Given the description of an element on the screen output the (x, y) to click on. 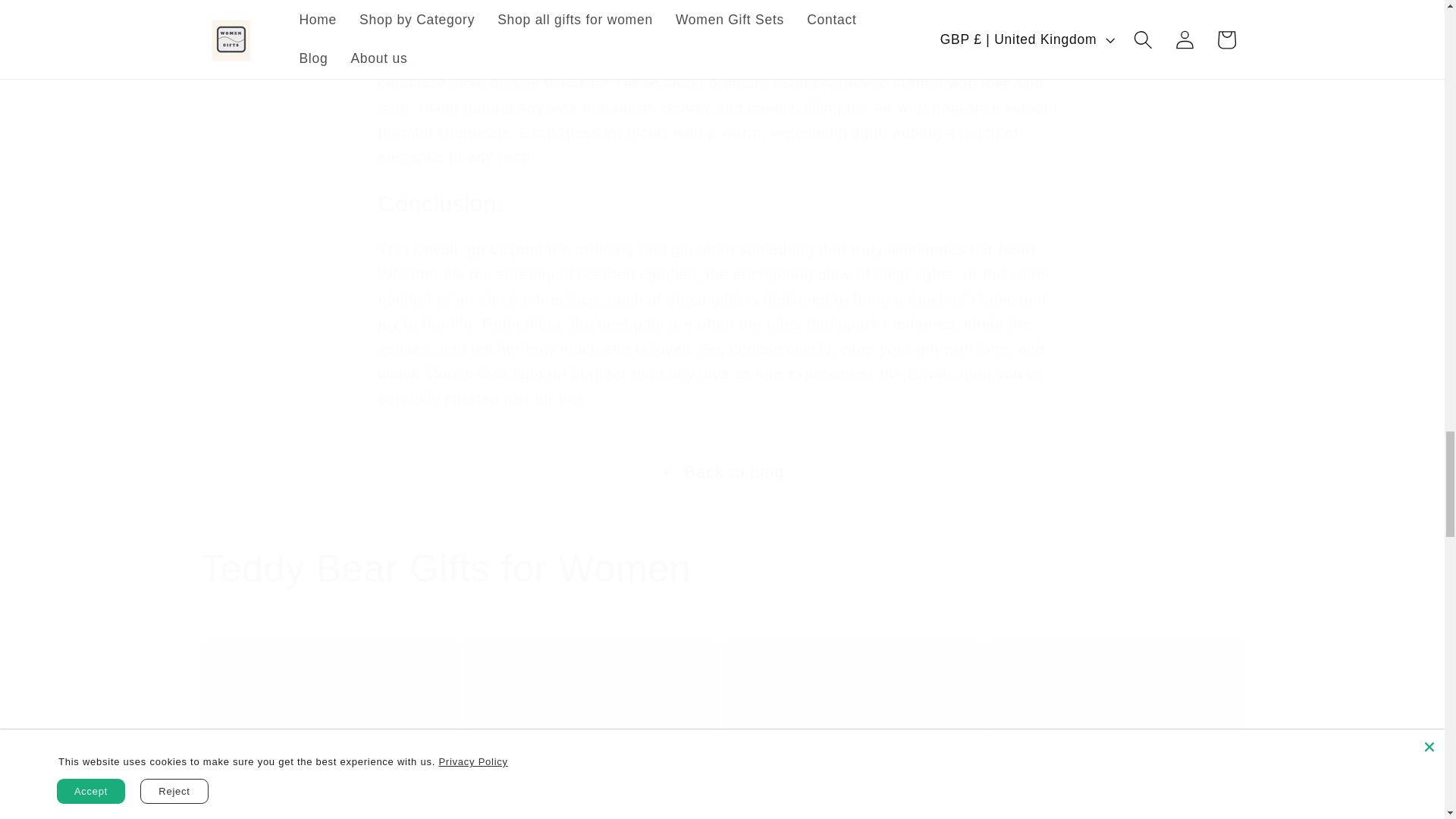
Teddy Bear Gifts for Women (721, 568)
